Given the description of an element on the screen output the (x, y) to click on. 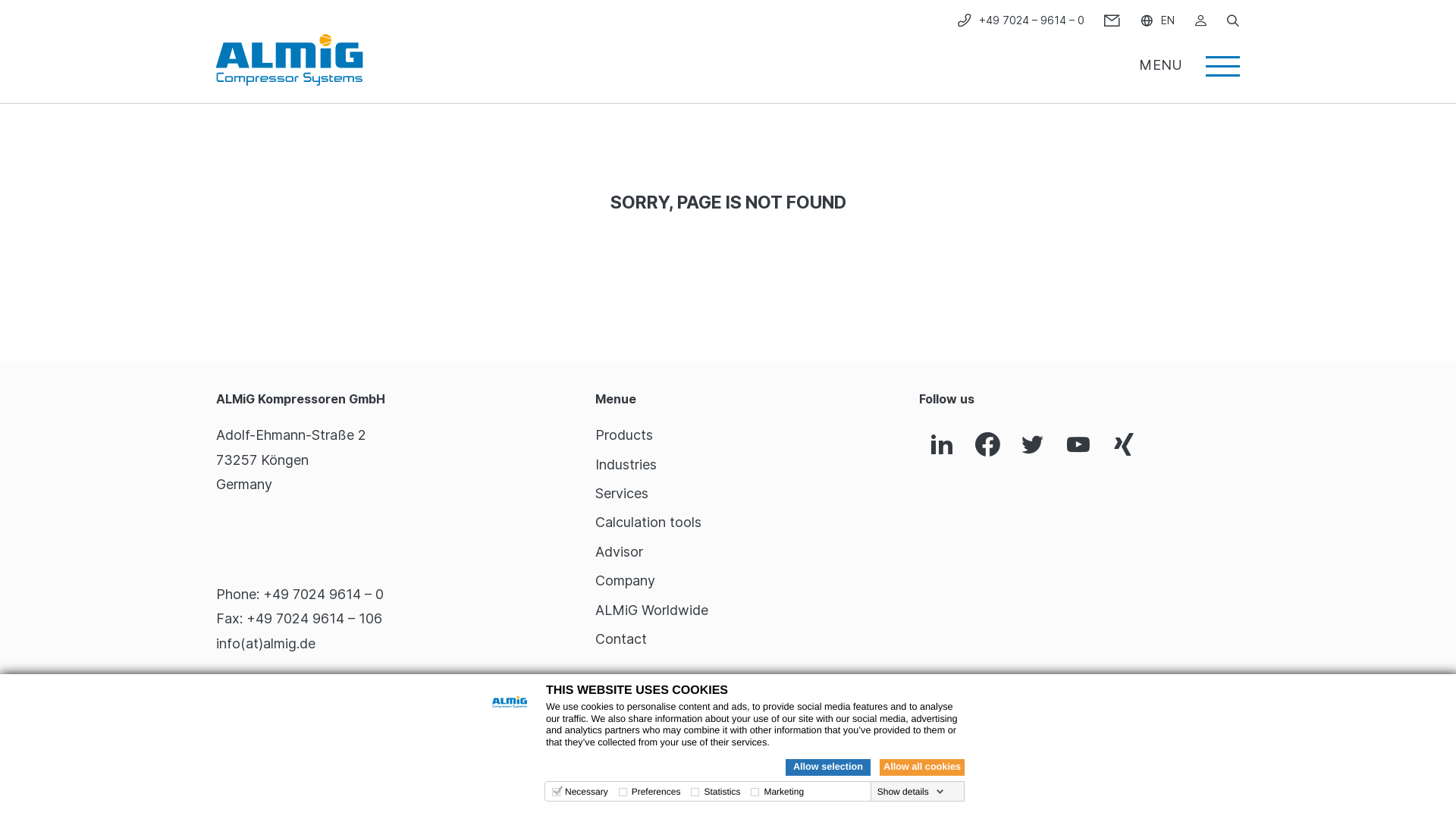
Services Element type: text (621, 493)
Company Element type: text (625, 580)
LOGIN Element type: text (1200, 20)
Allow selection Element type: text (827, 767)
EN Element type: text (1156, 20)
Contact Element type: text (620, 638)
MENU Element type: text (1189, 59)
YouTube Element type: text (1078, 445)
AEB Element type: text (1229, 778)
Imprint Element type: text (1079, 778)
SEARCH Element type: text (1232, 20)
Data protection Element type: text (998, 778)
Allow all cookies Element type: text (921, 767)
Calculation tools Element type: text (648, 522)
MiLOG Element type: text (1180, 778)
ALMiG Worldwide Element type: text (651, 610)
Products Element type: text (623, 434)
TO CONTACT Element type: text (257, 698)
Xing Element type: text (1123, 445)
info(at)almig.de Element type: text (265, 643)
Show details Element type: text (910, 791)
Industries Element type: text (625, 464)
CONTACT Element type: text (1112, 20)
Linkedin Element type: text (941, 445)
AGB Element type: text (1130, 778)
Facebook Element type: text (987, 445)
Twitter Element type: text (1032, 445)
Advisor Element type: text (619, 551)
